Given the description of an element on the screen output the (x, y) to click on. 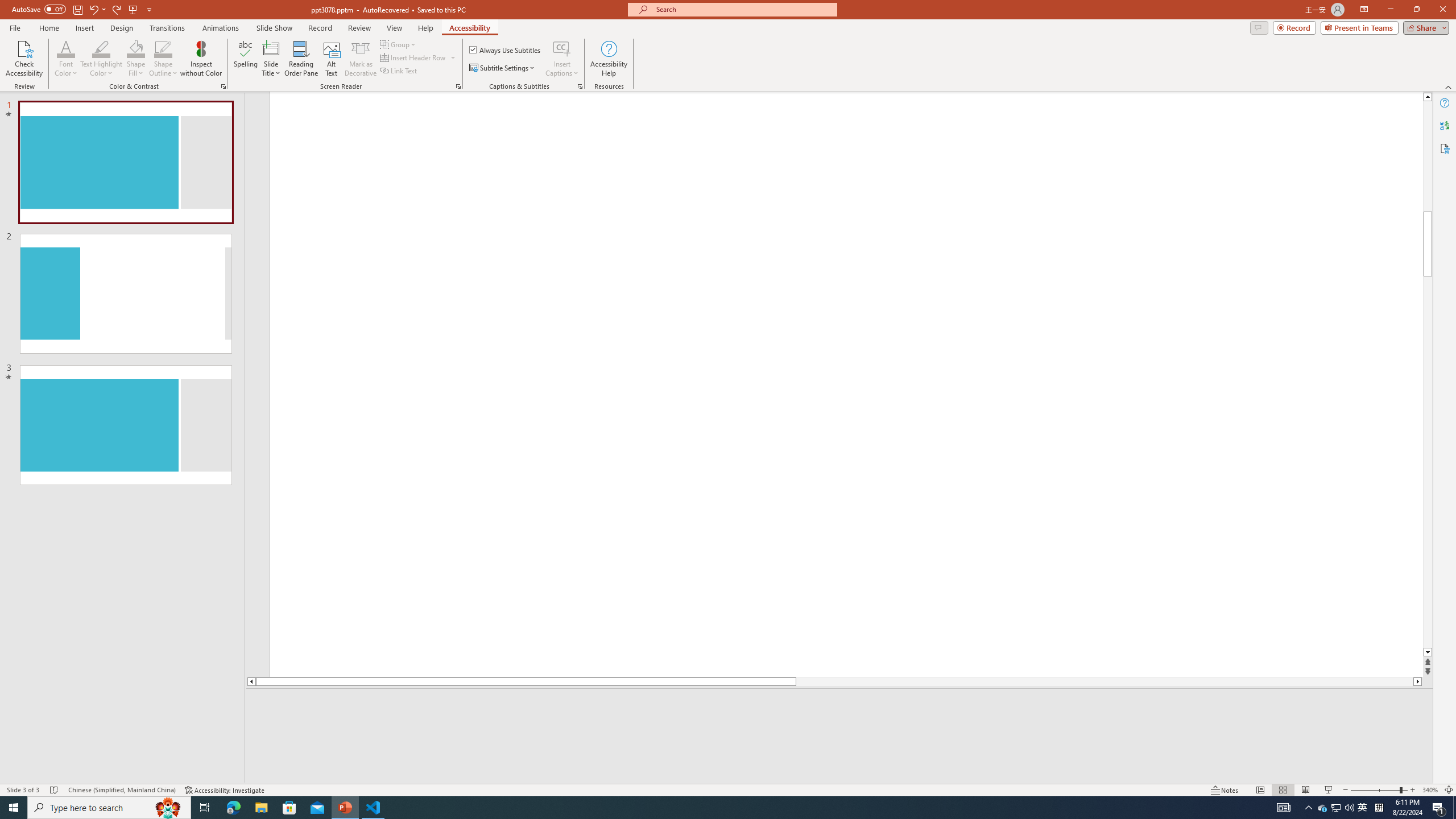
Captions & Subtitles (580, 85)
Subtitle Settings (502, 67)
Color & Contrast (223, 85)
